Given the description of an element on the screen output the (x, y) to click on. 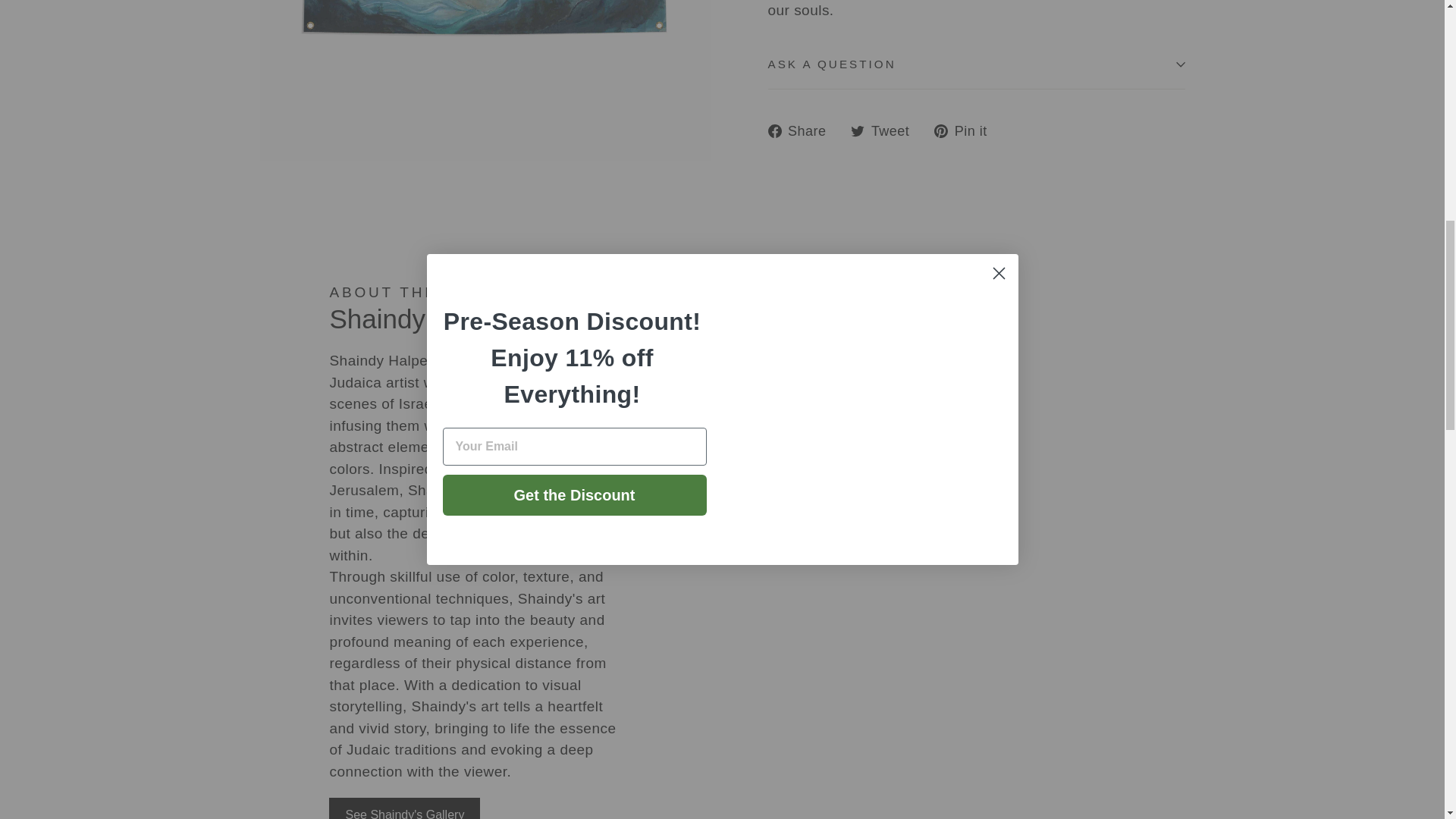
Share on Facebook (802, 130)
Pin on Pinterest (965, 130)
Tweet on Twitter (885, 130)
twitter (857, 131)
